Given the description of an element on the screen output the (x, y) to click on. 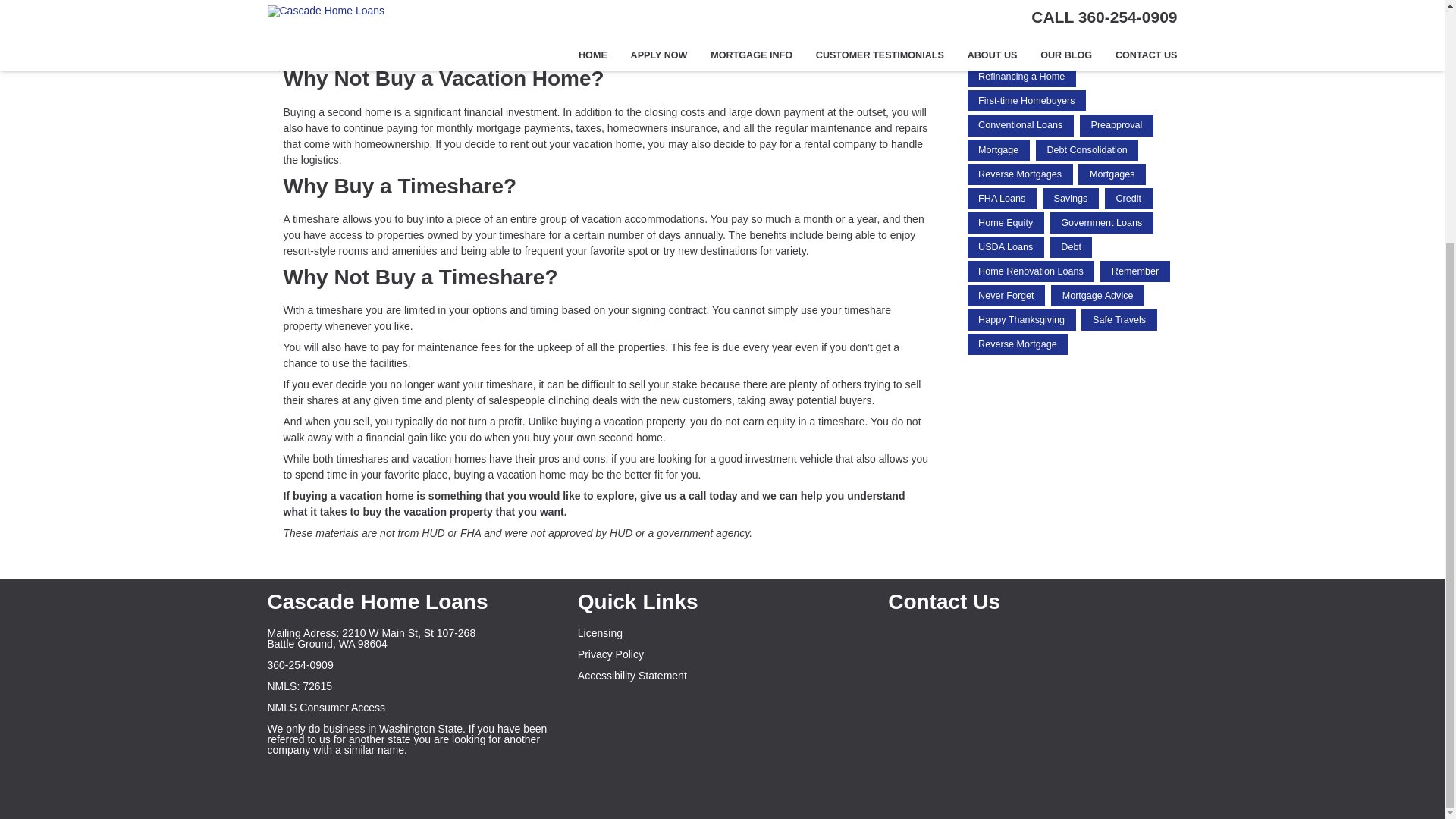
Fixed Rate Mortgages (1093, 27)
Conventional Loans (1021, 124)
VA Loans (998, 27)
mortgage brokers (1016, 7)
Debt Consolidation (1086, 149)
Refinancing a Home (1021, 76)
Preapproval (1116, 124)
Mortgage (998, 149)
First-time Homebuyers (1027, 100)
Reverse Mortgages (1020, 174)
Adjustable Rate Mortgages (1036, 52)
Interest Rates (1110, 7)
